Given the description of an element on the screen output the (x, y) to click on. 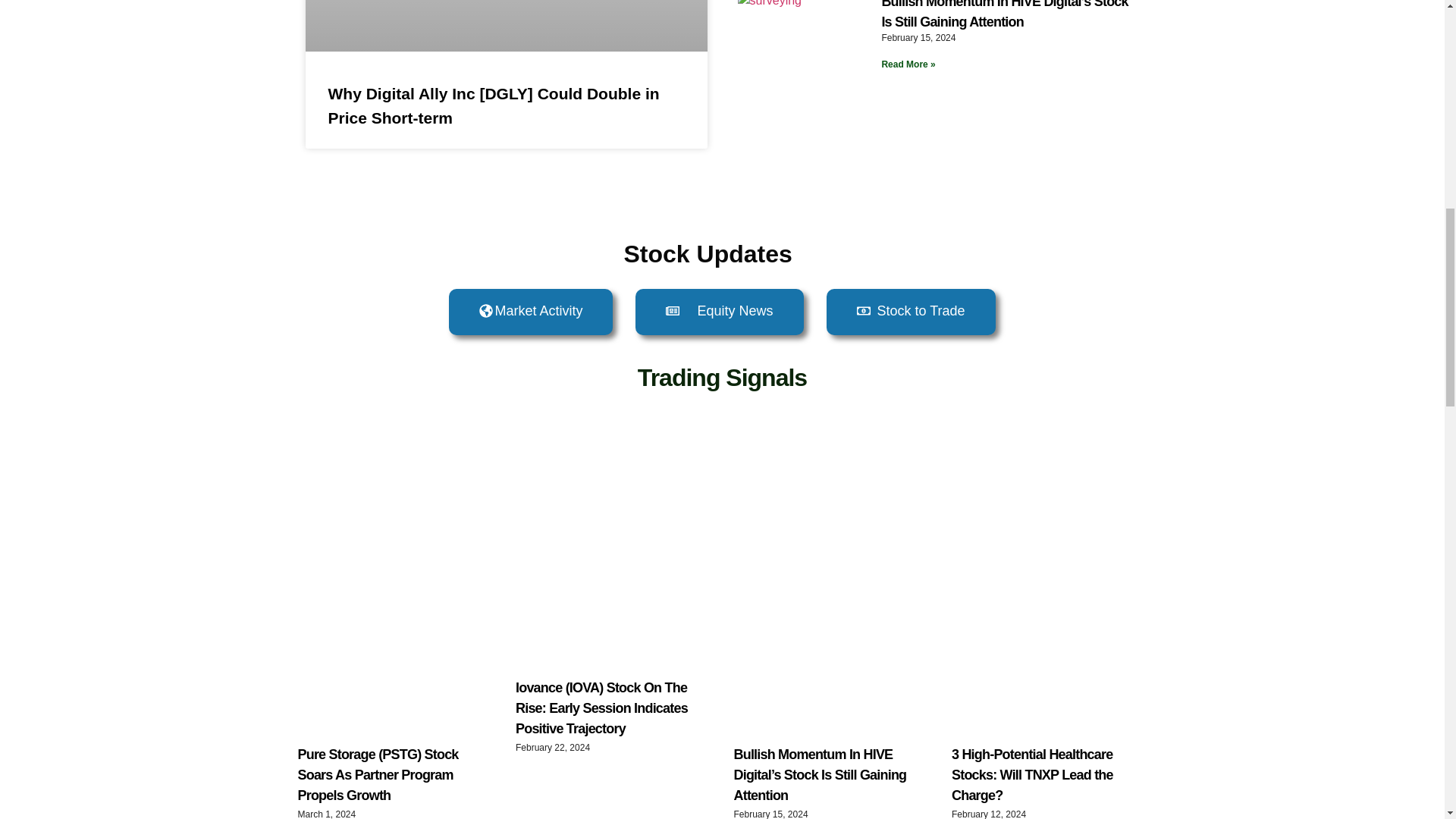
Equity News (718, 311)
Trading Signals (721, 377)
Market Activity (530, 311)
Stock to Trade (911, 311)
